Given the description of an element on the screen output the (x, y) to click on. 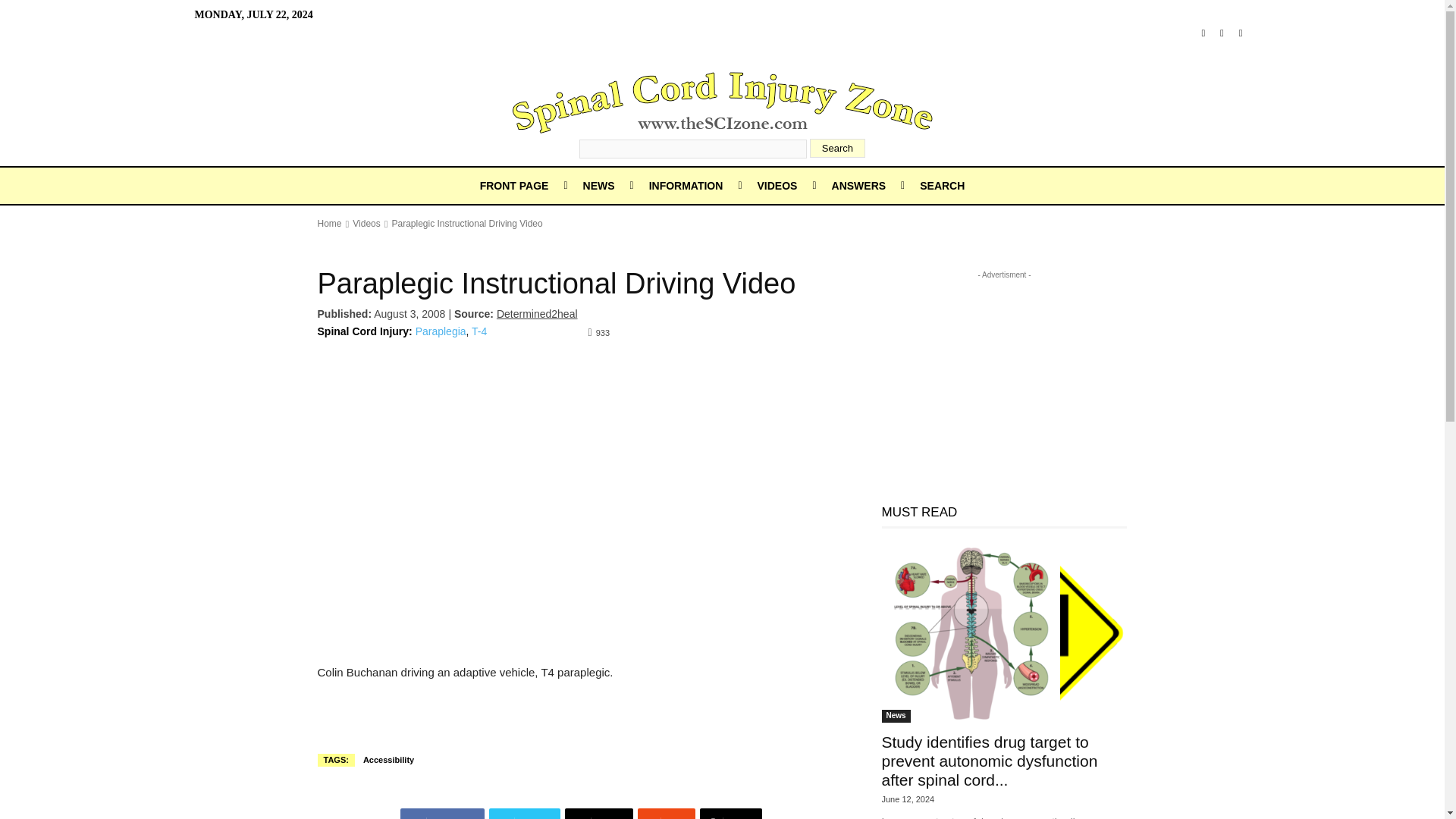
Email (598, 813)
Search (836, 148)
Digg (730, 813)
RSS (1221, 33)
VIDEOS (776, 185)
Mix (665, 813)
T-4 (478, 331)
Determined2heal (537, 313)
View all posts in Videos (366, 223)
Paraplegia (439, 331)
Twitter (1240, 33)
NEWS (598, 185)
Facebook (441, 813)
Accessibility (388, 759)
